Given the description of an element on the screen output the (x, y) to click on. 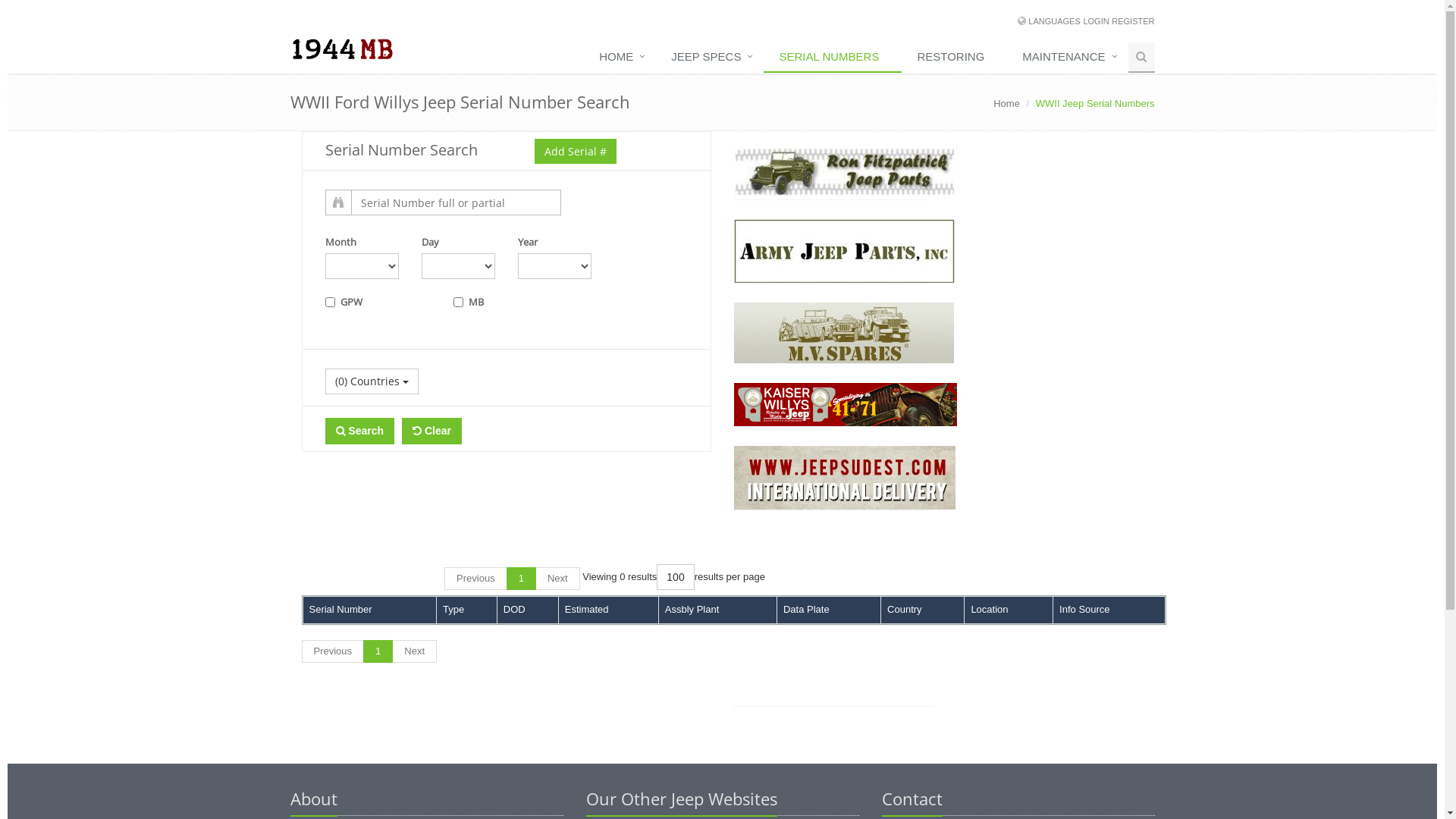
JEEP SPECS Element type: text (709, 57)
(0) Countries Element type: text (370, 381)
Clear options Element type: hover (416, 430)
HOME Element type: text (619, 57)
Previous Element type: text (475, 578)
100 Element type: text (674, 576)
Submit Element type: hover (340, 430)
Next Element type: text (557, 578)
Next Element type: text (414, 651)
Search Element type: text (359, 431)
RESTORING Element type: text (954, 57)
1 Element type: text (521, 578)
Clear Element type: text (431, 431)
Previous Element type: text (332, 651)
REGISTER Element type: text (1132, 20)
SERIAL NUMBERS Element type: text (832, 57)
LOGIN Element type: text (1095, 20)
Home Element type: text (1006, 103)
1 Element type: text (377, 651)
MAINTENANCE Element type: text (1067, 57)
Add Serial # Element type: text (574, 151)
LANGUAGES Element type: text (1053, 20)
